Given the description of an element on the screen output the (x, y) to click on. 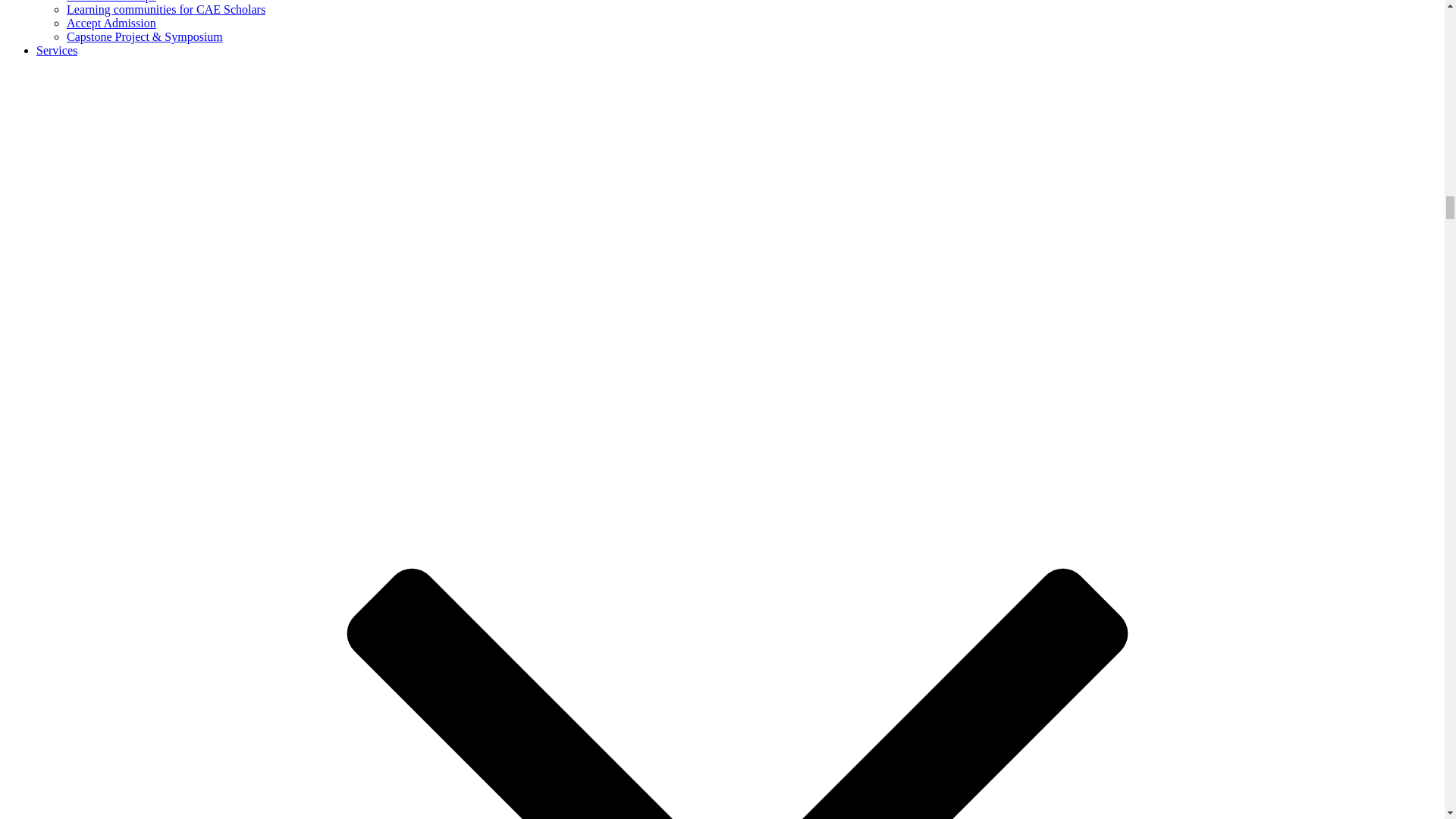
CAE Scholarships (110, 1)
Learning communities for CAE Scholars (165, 9)
Accept Admission (110, 22)
